Given the description of an element on the screen output the (x, y) to click on. 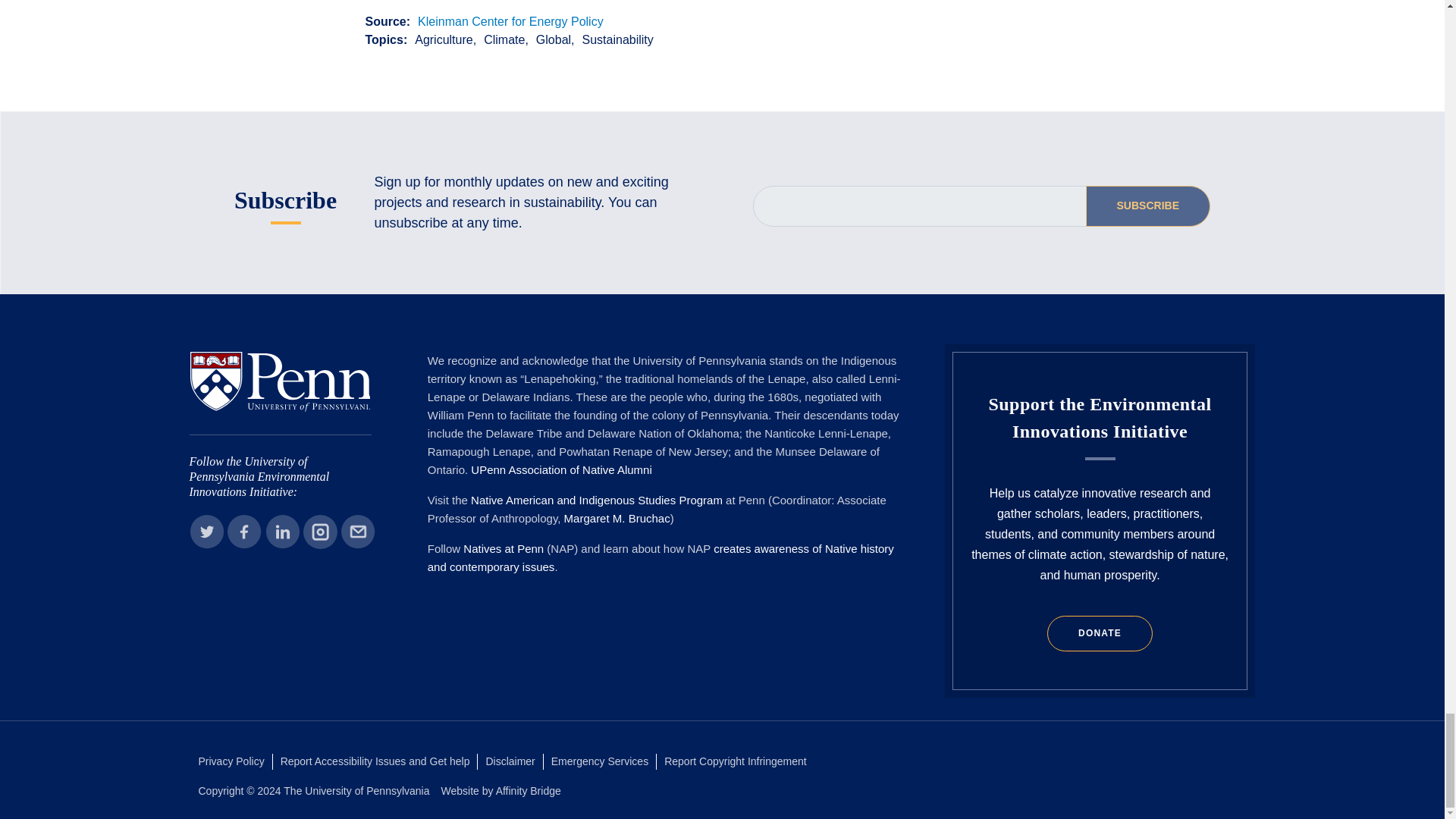
Report Copyright Infringement (734, 761)
Disclaimer (509, 761)
Emergency Services (599, 761)
Privacy Policy (231, 761)
